Given the description of an element on the screen output the (x, y) to click on. 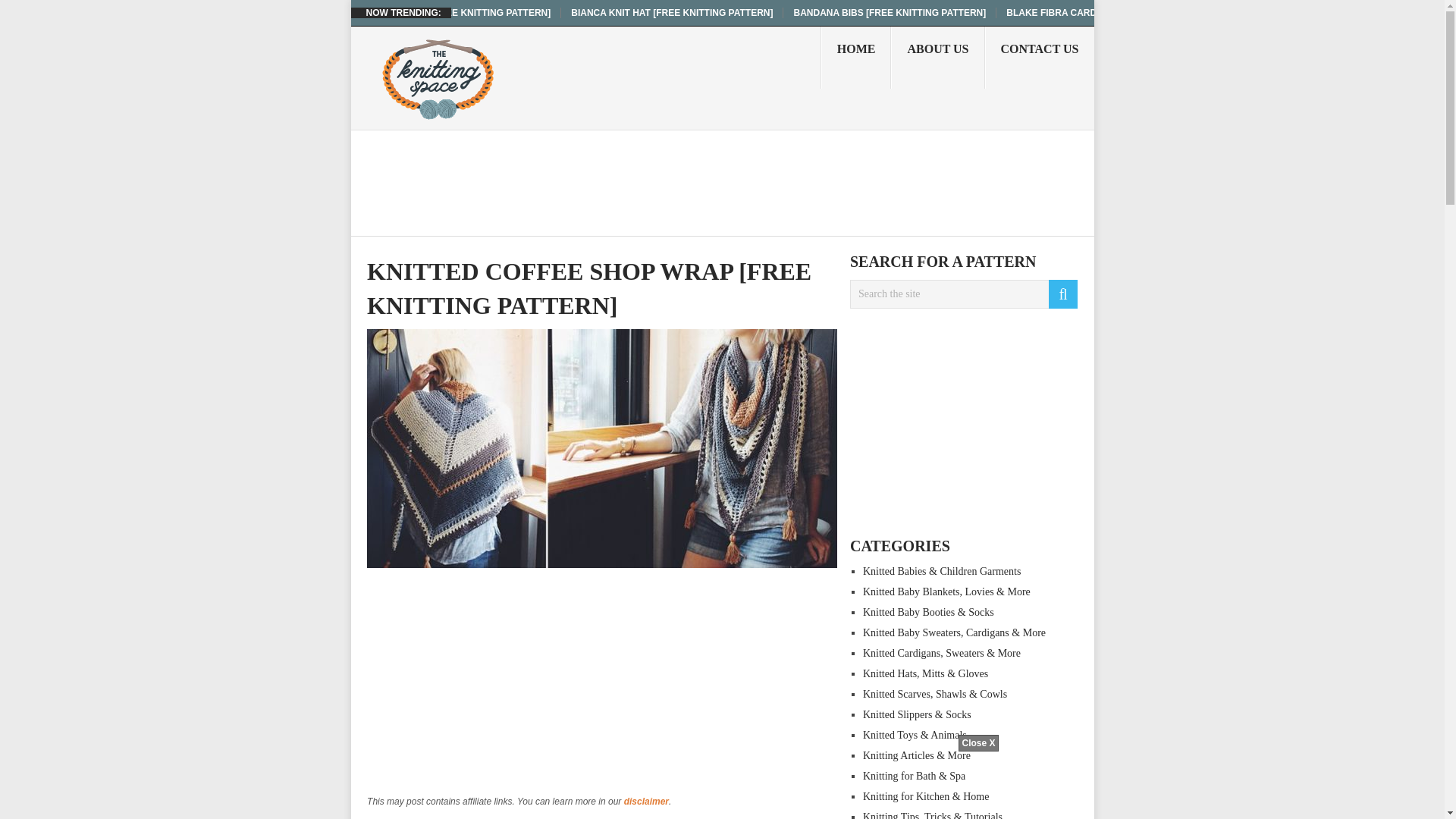
HOME (856, 57)
disclaimer (646, 801)
3rd party ad content (642, 182)
Close X (977, 742)
Advertisement (601, 686)
3rd party ad content (721, 785)
CONTACT US (1039, 57)
ABOUT US (937, 57)
